Given the description of an element on the screen output the (x, y) to click on. 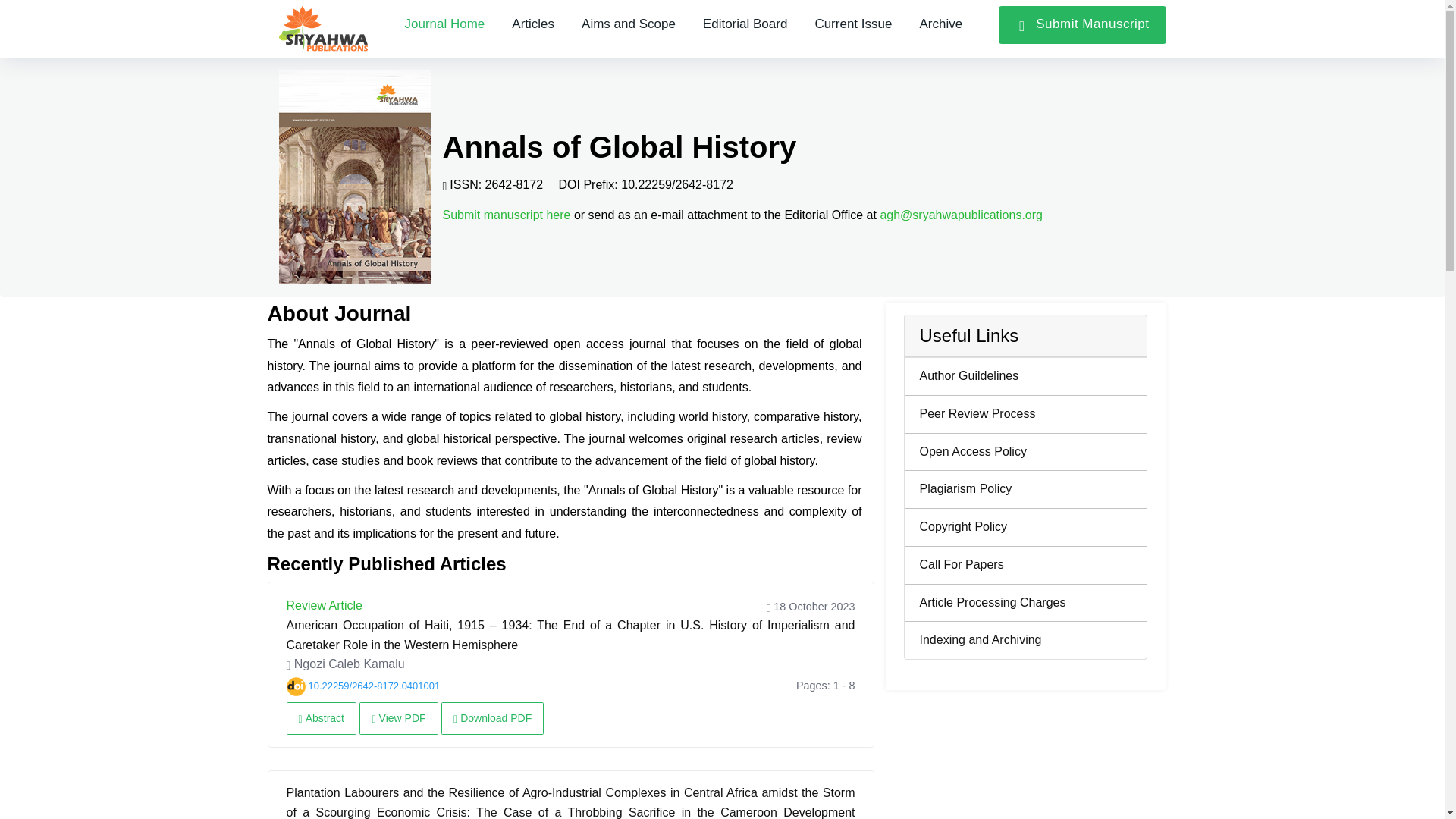
Abstract (321, 717)
Submit manuscript here (506, 214)
Download PDF (492, 717)
Articles (532, 24)
Journal Home (445, 24)
Current Issue (852, 24)
View PDF (398, 717)
Archive (940, 24)
Editorial Board (745, 24)
